Given the description of an element on the screen output the (x, y) to click on. 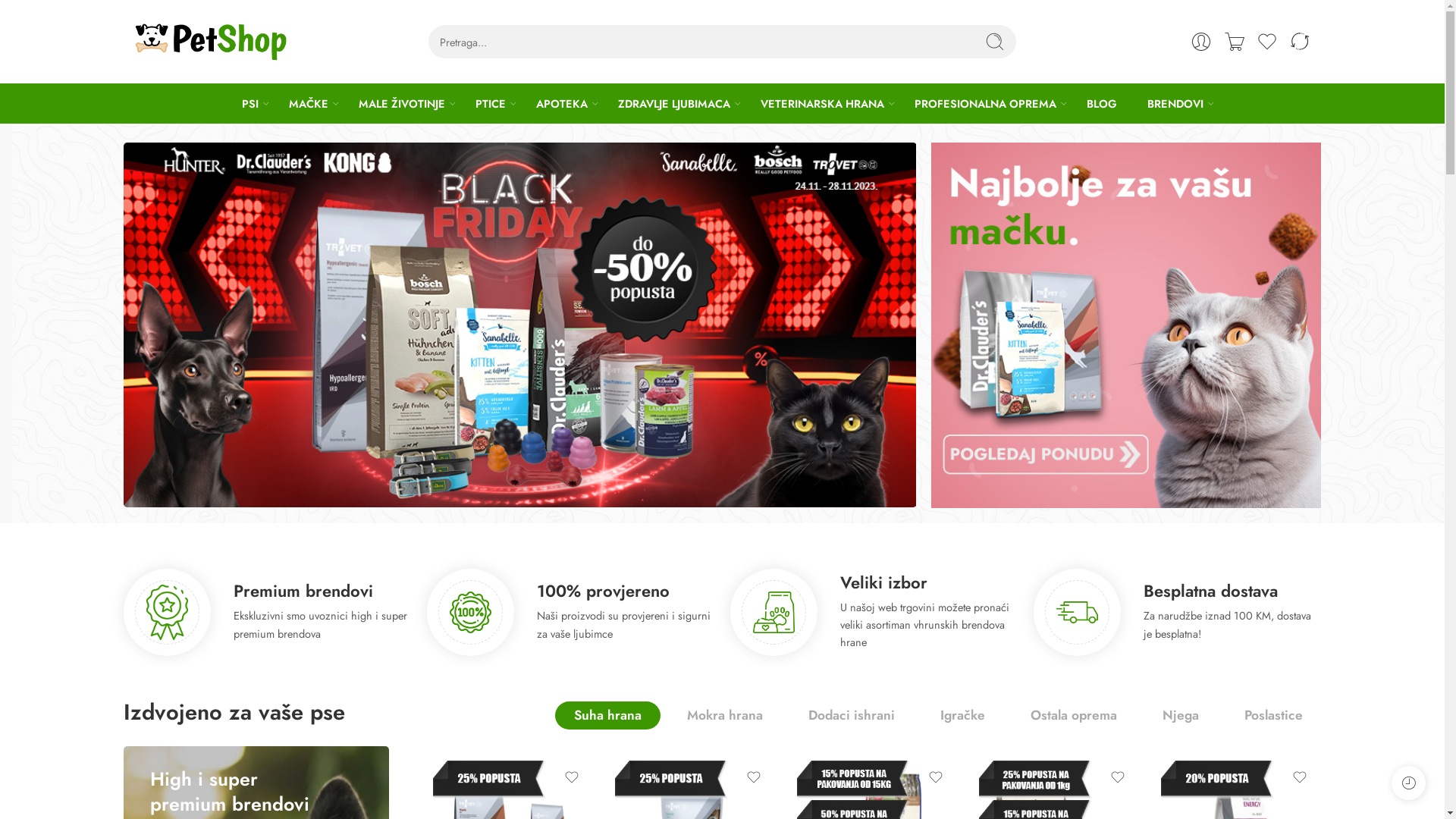
Recently Viewed Element type: hover (1408, 782)
Njega Element type: text (1180, 715)
APOTEKA Element type: text (560, 103)
Dodaci ishrani Element type: text (850, 715)
PTICE Element type: text (489, 103)
Suha hrana Element type: text (607, 715)
PSI Element type: text (249, 103)
Uporedi Element type: hover (1299, 41)
Korpa Element type: hover (1234, 41)
PROFESIONALNA OPREMA Element type: text (985, 103)
Ostala oprema Element type: text (1073, 715)
BRENDOVI Element type: text (1174, 103)
ZDRAVLJE LJUBIMACA Element type: text (673, 103)
Poslastice Element type: text (1273, 715)
VETERINARSKA HRANA Element type: text (821, 103)
Mokra hrana Element type: text (724, 715)
BLOG Element type: text (1100, 103)
Login / Register Element type: hover (1200, 41)
